Given the description of an element on the screen output the (x, y) to click on. 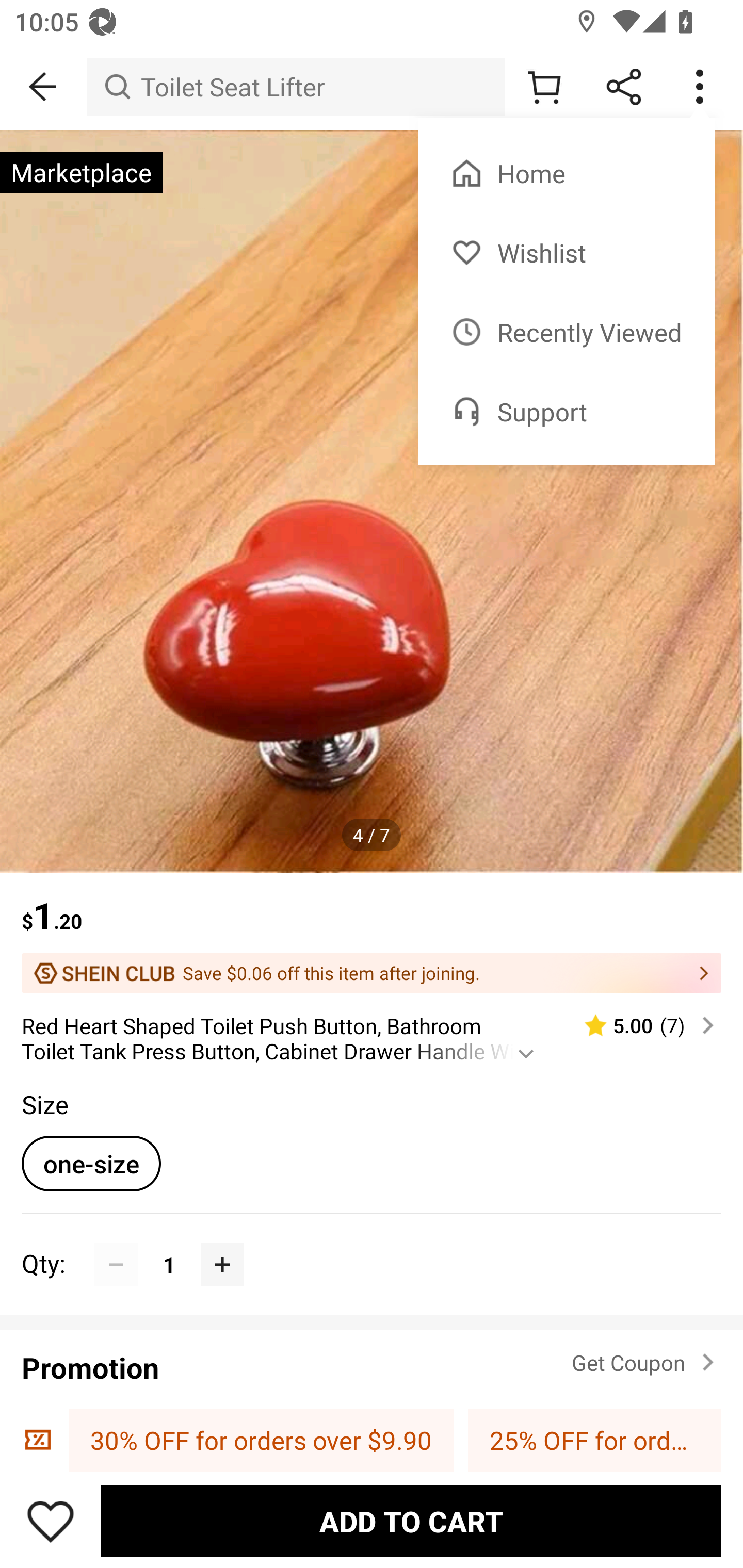
Home (565, 173)
Wishlist (565, 253)
Recently Viewed (565, 332)
Support (565, 411)
